Given the description of an element on the screen output the (x, y) to click on. 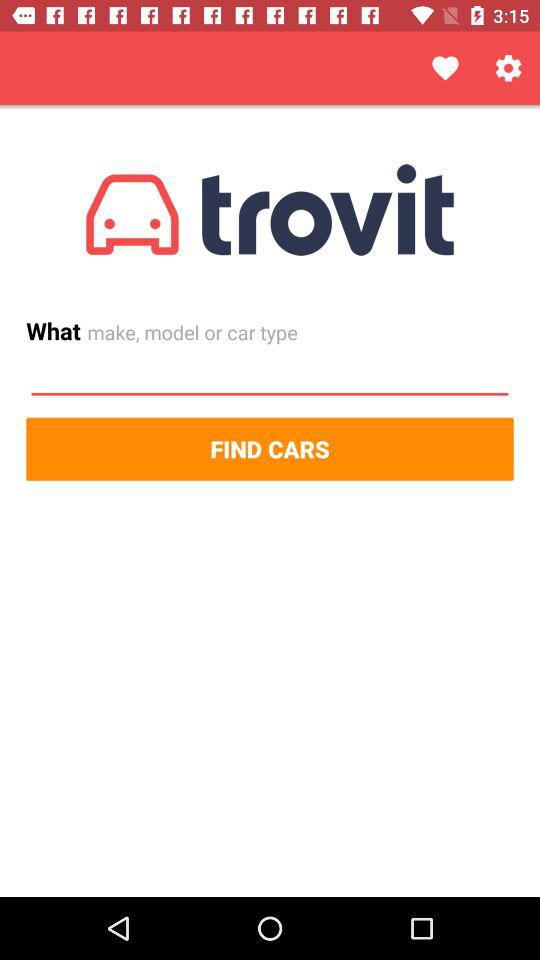
press the icon below the what item (269, 375)
